Given the description of an element on the screen output the (x, y) to click on. 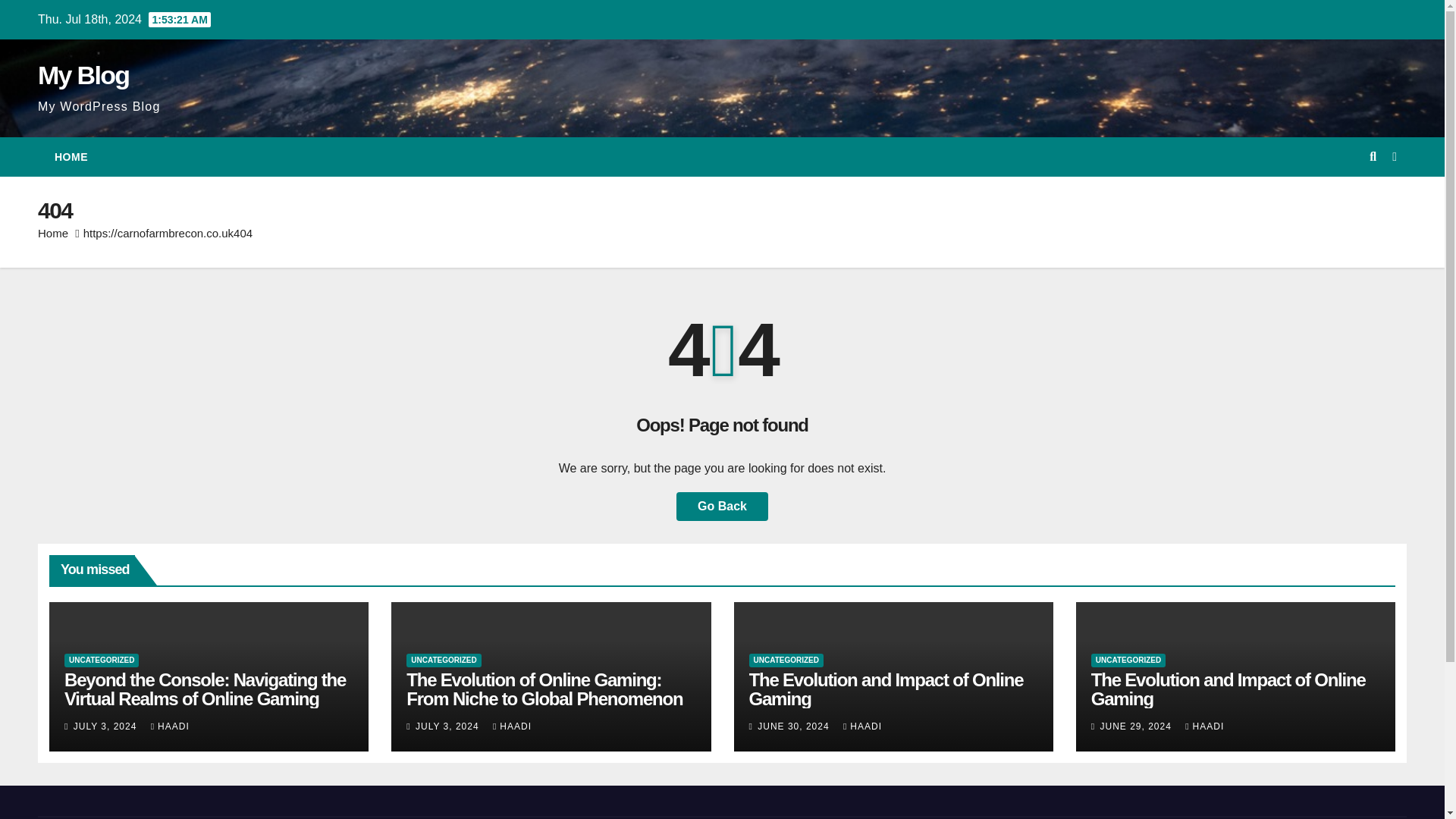
UNCATEGORIZED (443, 660)
Home (52, 232)
Permalink to: The Evolution and Impact of Online Gaming (1227, 689)
UNCATEGORIZED (1128, 660)
UNCATEGORIZED (786, 660)
Home (70, 156)
HAADI (862, 726)
JUNE 29, 2024 (1136, 726)
HOME (70, 156)
Permalink to: The Evolution and Impact of Online Gaming (886, 689)
HAADI (170, 726)
JUNE 30, 2024 (794, 726)
The Evolution and Impact of Online Gaming (886, 689)
